Given the description of an element on the screen output the (x, y) to click on. 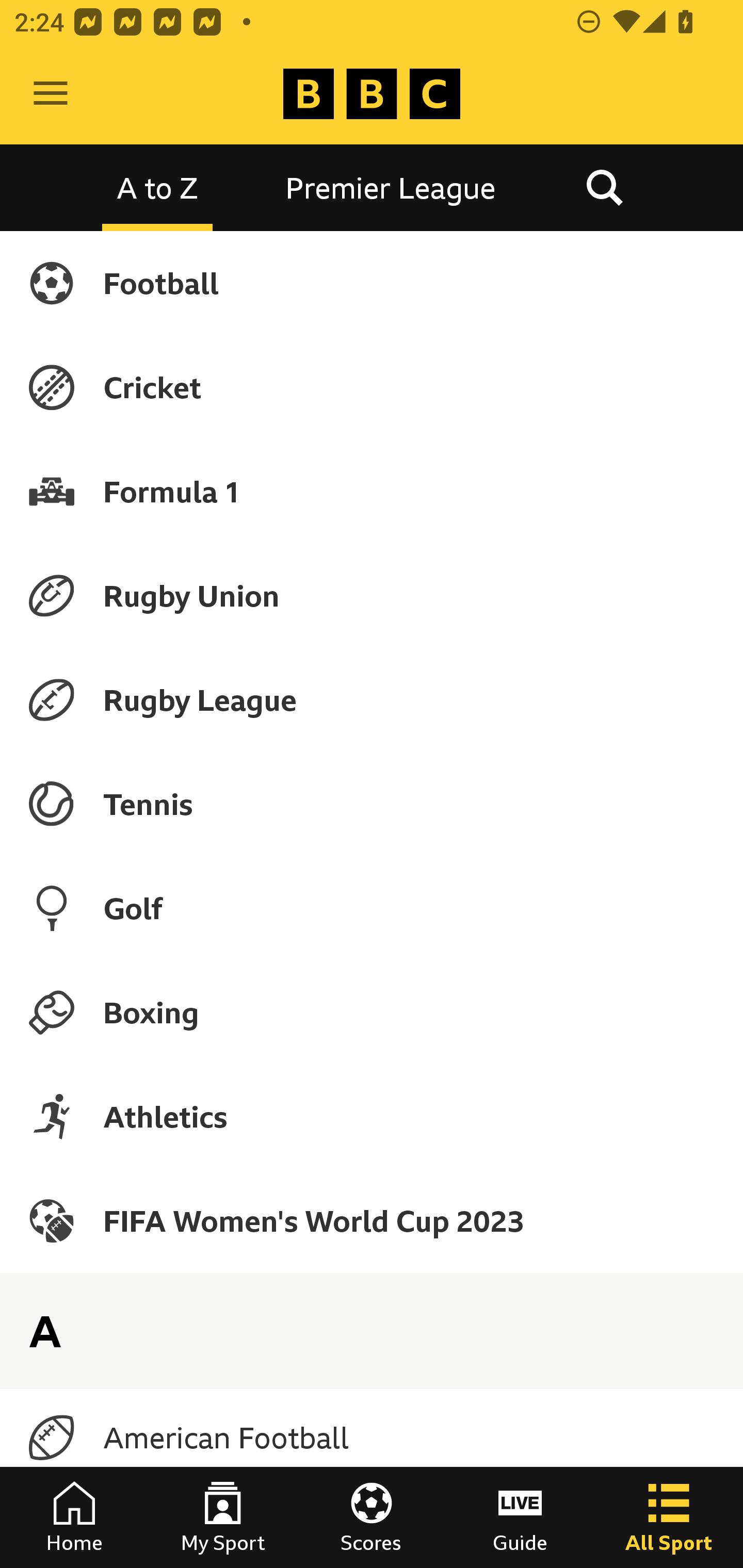
Open Menu (50, 93)
Premier League (390, 187)
Search (604, 187)
Football (371, 282)
Cricket (371, 387)
Formula 1 (371, 491)
Rugby Union (371, 595)
Rugby League (371, 699)
Tennis (371, 804)
Golf (371, 907)
Boxing (371, 1011)
Athletics (371, 1116)
FIFA Women's World Cup 2023 (371, 1220)
American Football (371, 1437)
Home (74, 1517)
My Sport (222, 1517)
Scores (371, 1517)
Guide (519, 1517)
